Given the description of an element on the screen output the (x, y) to click on. 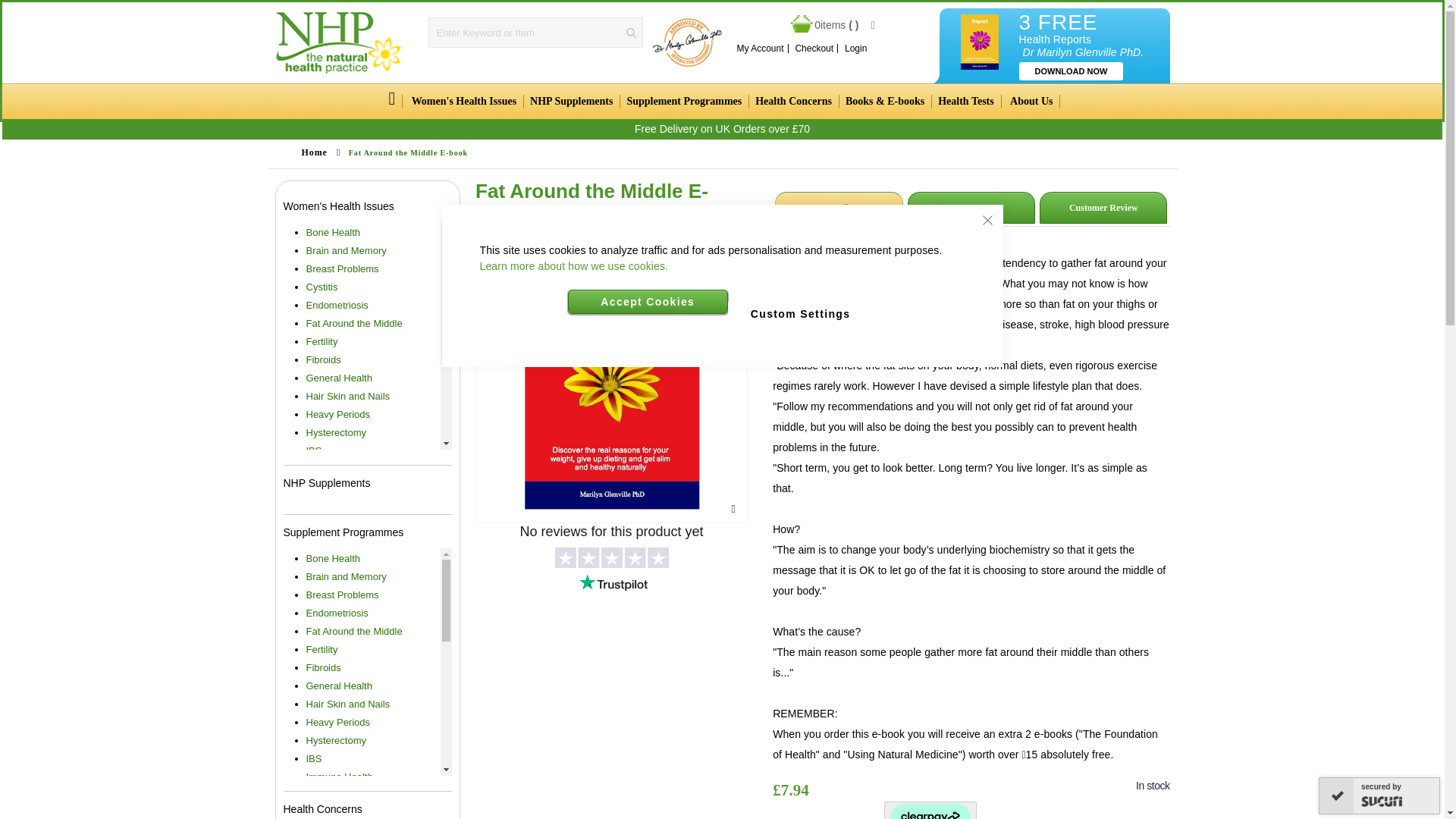
Search (631, 32)
Custom Settings (800, 313)
Customer reviews powered by Trustpilot (612, 671)
Checkout (814, 48)
Learn more about how we use cookies. (573, 265)
LINK to privacy policy (573, 265)
DOWNLOAD NOW (1071, 71)
Login (855, 48)
Women's Health Issues (463, 101)
Go to Home Page (314, 152)
Naturalhealthpractice.com Logo (339, 42)
Availability (1013, 785)
Accept Cookies (647, 301)
My Account (759, 48)
